Given the description of an element on the screen output the (x, y) to click on. 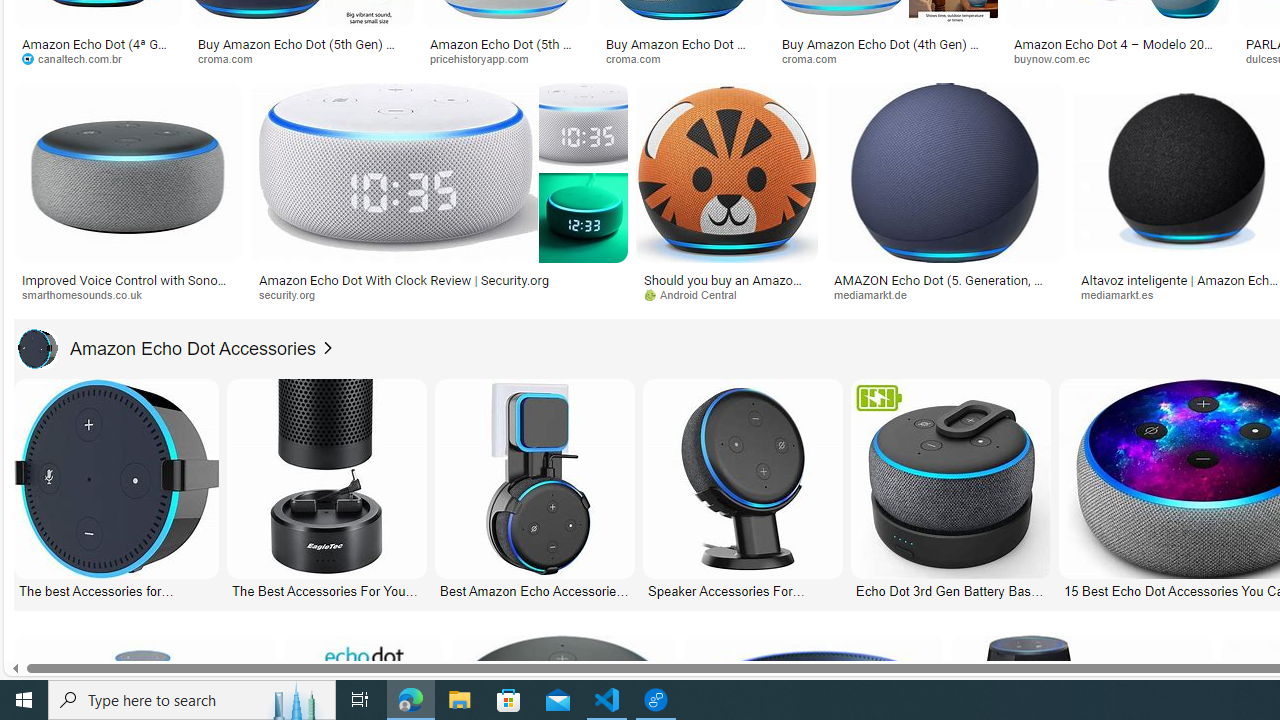
Amazon Echo Dot With Clock Review | Security.org (404, 279)
pricehistoryapp.com (486, 57)
smarthomesounds.co.uk (88, 294)
mediamarkt.de (945, 295)
canaltech.com.br (78, 57)
Best Amazon Echo Accessories - Tech Advisor (534, 589)
croma.com (816, 57)
